Given the description of an element on the screen output the (x, y) to click on. 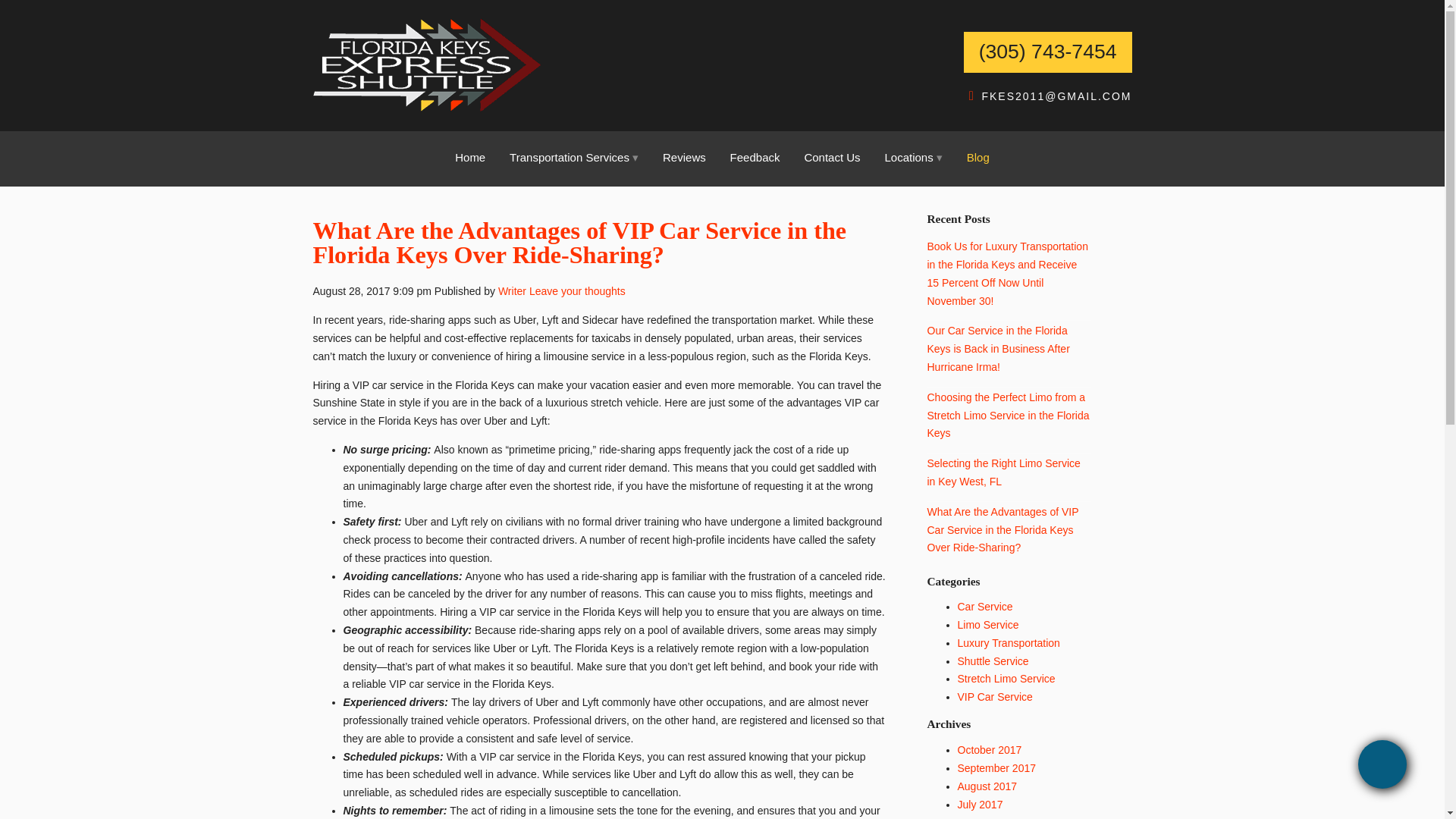
Shuttle Service (991, 661)
Home (470, 157)
Feedback (754, 157)
October 2017 (989, 749)
Blog (978, 157)
September 2017 (995, 767)
Car Service (983, 606)
Reviews (684, 157)
VIP Car Service (994, 696)
Locations (912, 157)
Limo Service (986, 624)
Contact Us (831, 157)
